Given the description of an element on the screen output the (x, y) to click on. 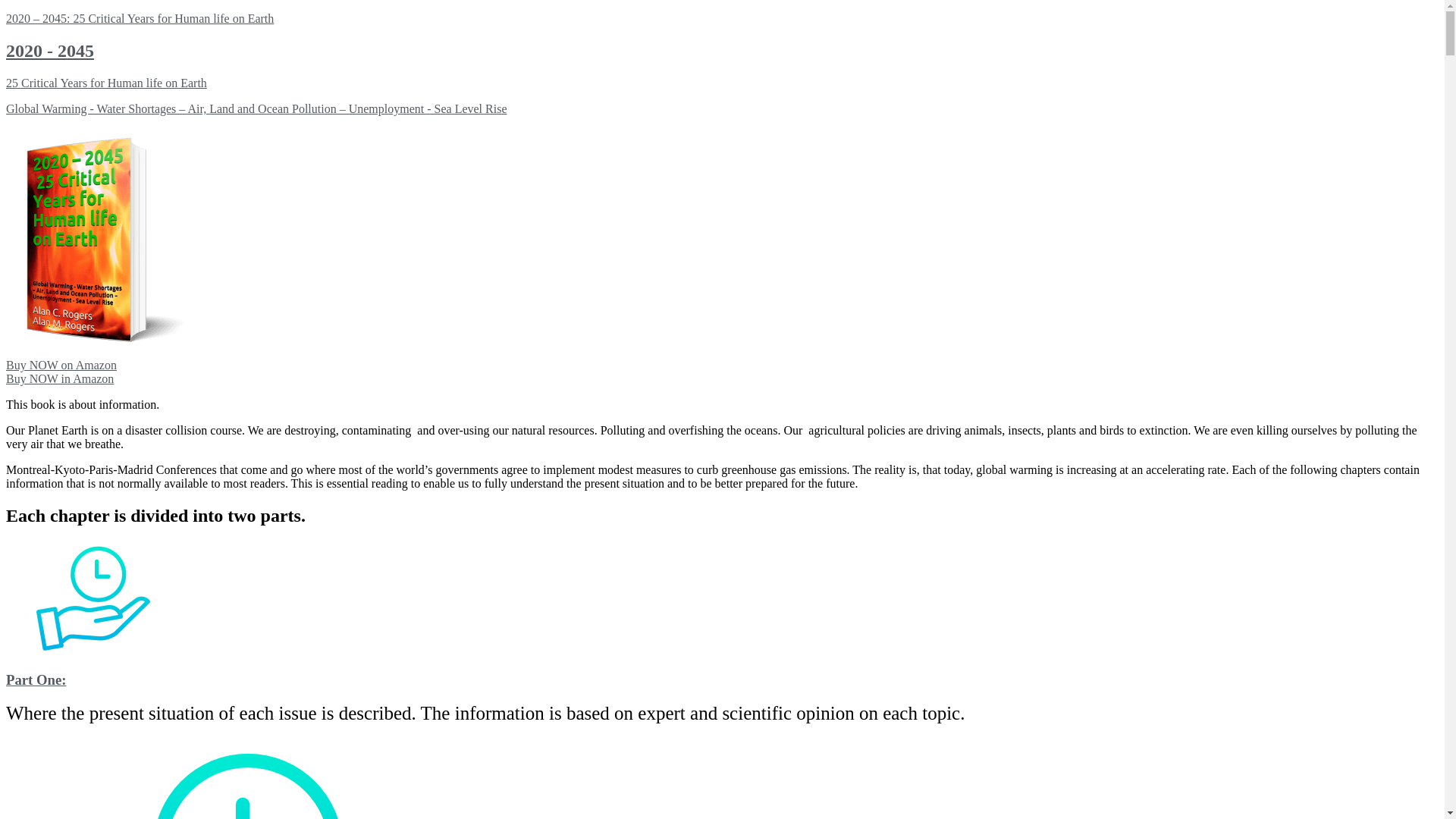
Part One: Element type: text (35, 679)
25 Critical Years for Human life on Earth Element type: text (106, 82)
2020 - 2045 Element type: text (50, 50)
Buy NOW on Amazon Element type: text (61, 364)
Buy NOW in Amazon Element type: text (59, 378)
